Given the description of an element on the screen output the (x, y) to click on. 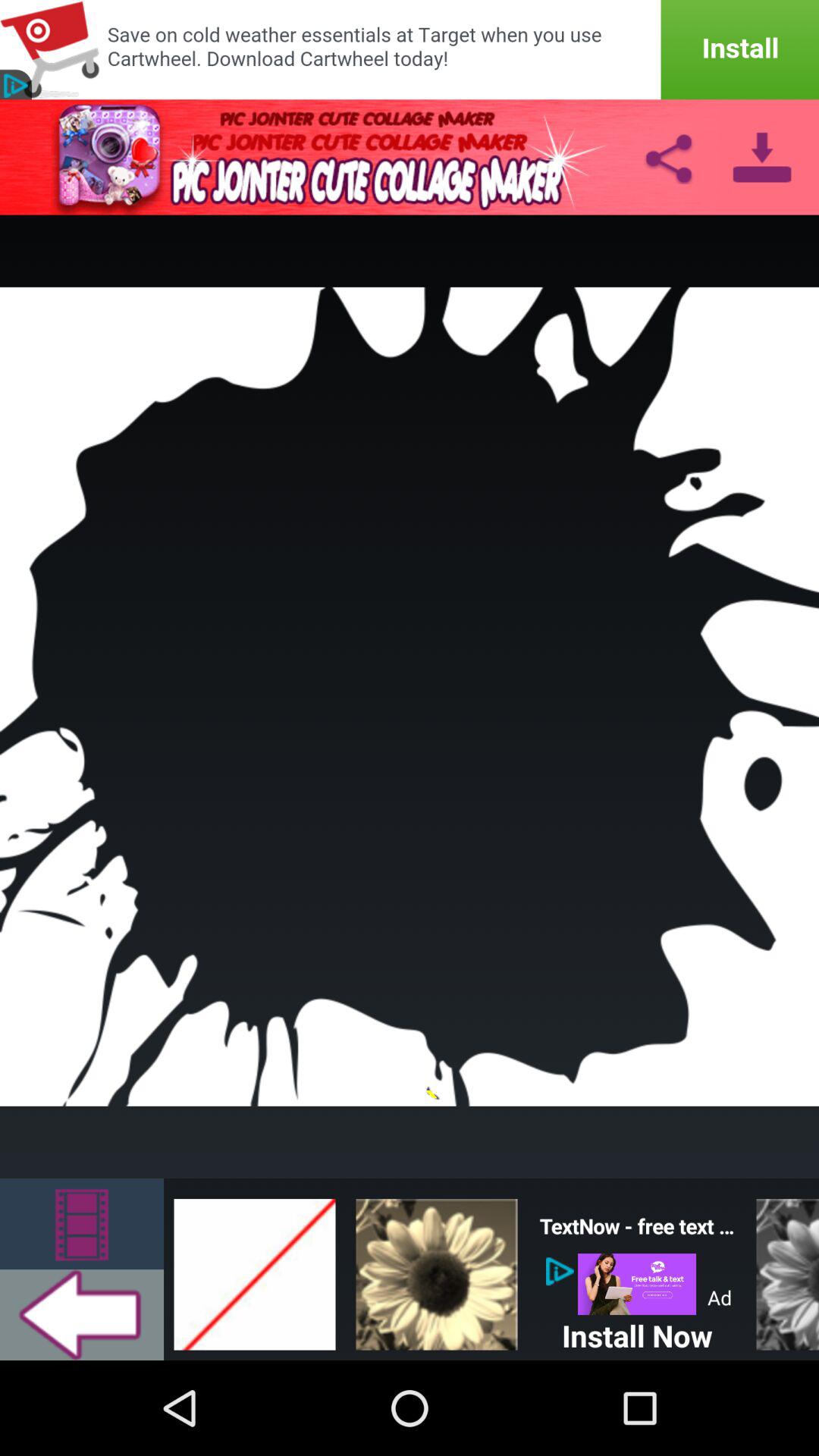
launch the install now item (636, 1332)
